Given the description of an element on the screen output the (x, y) to click on. 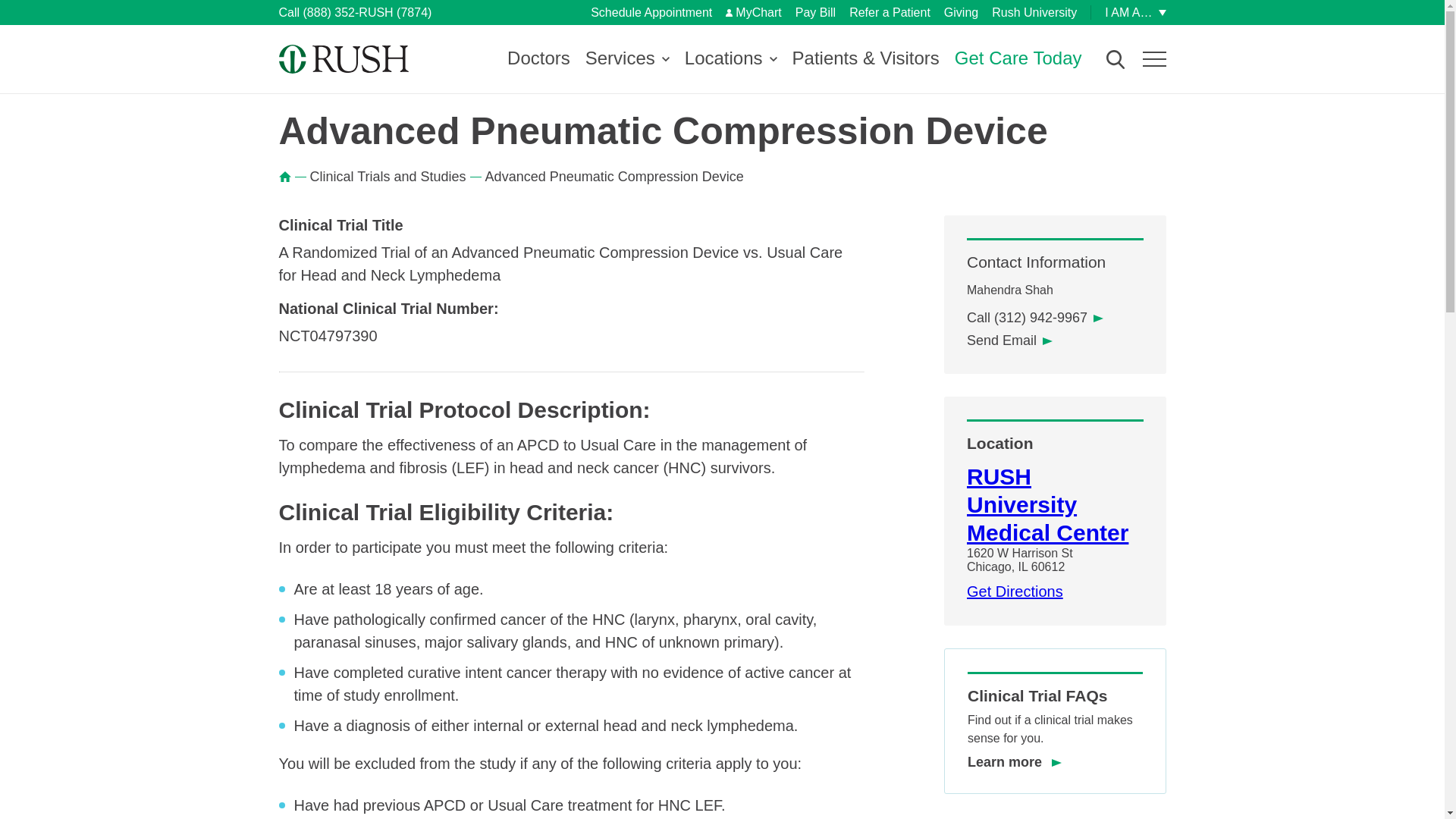
Pay Bill (814, 11)
Refer a Patient (889, 11)
Rush University (1034, 11)
Schedule Appointment (651, 11)
Giving (960, 11)
MyChart (752, 11)
